Given the description of an element on the screen output the (x, y) to click on. 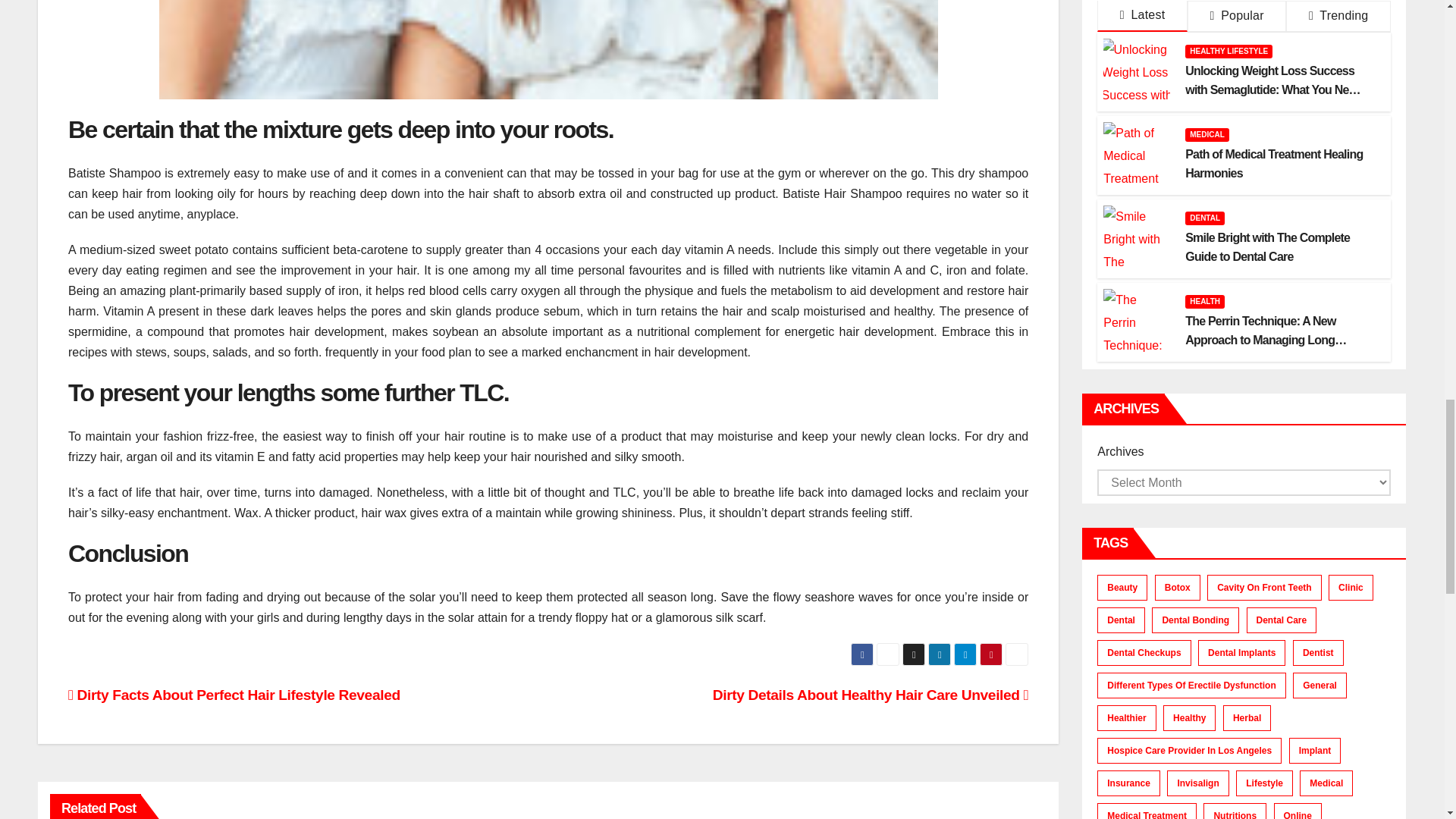
Dirty Facts About Perfect Hair Lifestyle Revealed (234, 694)
The Idiot's Guide To Natural Hair Care Explained (547, 49)
Dirty Details About Healthy Hair Care Unveiled (871, 694)
